Given the description of an element on the screen output the (x, y) to click on. 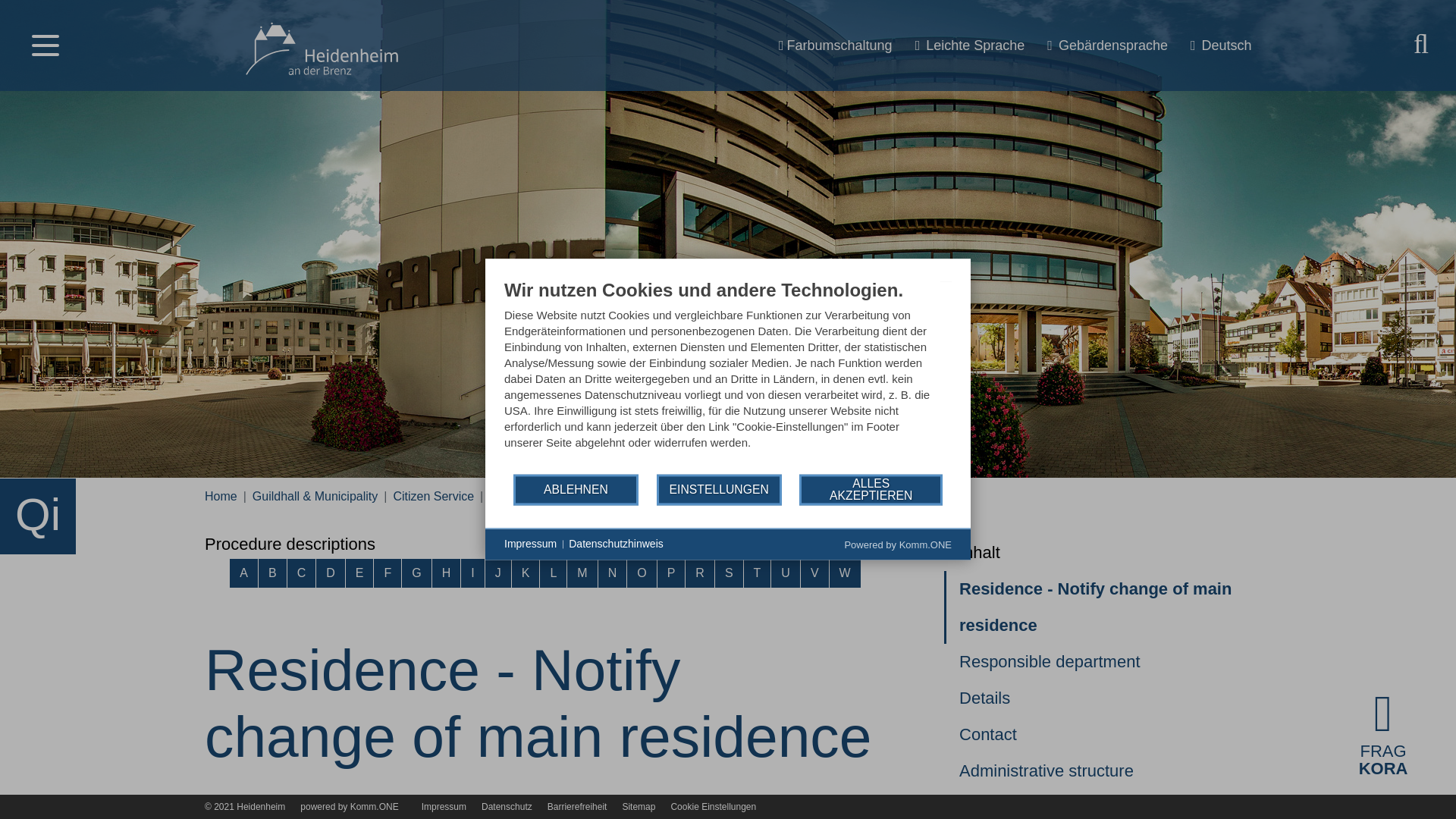
Zur Startseite von Heidenheim (321, 44)
Leichte Sprache (970, 45)
